Given the description of an element on the screen output the (x, y) to click on. 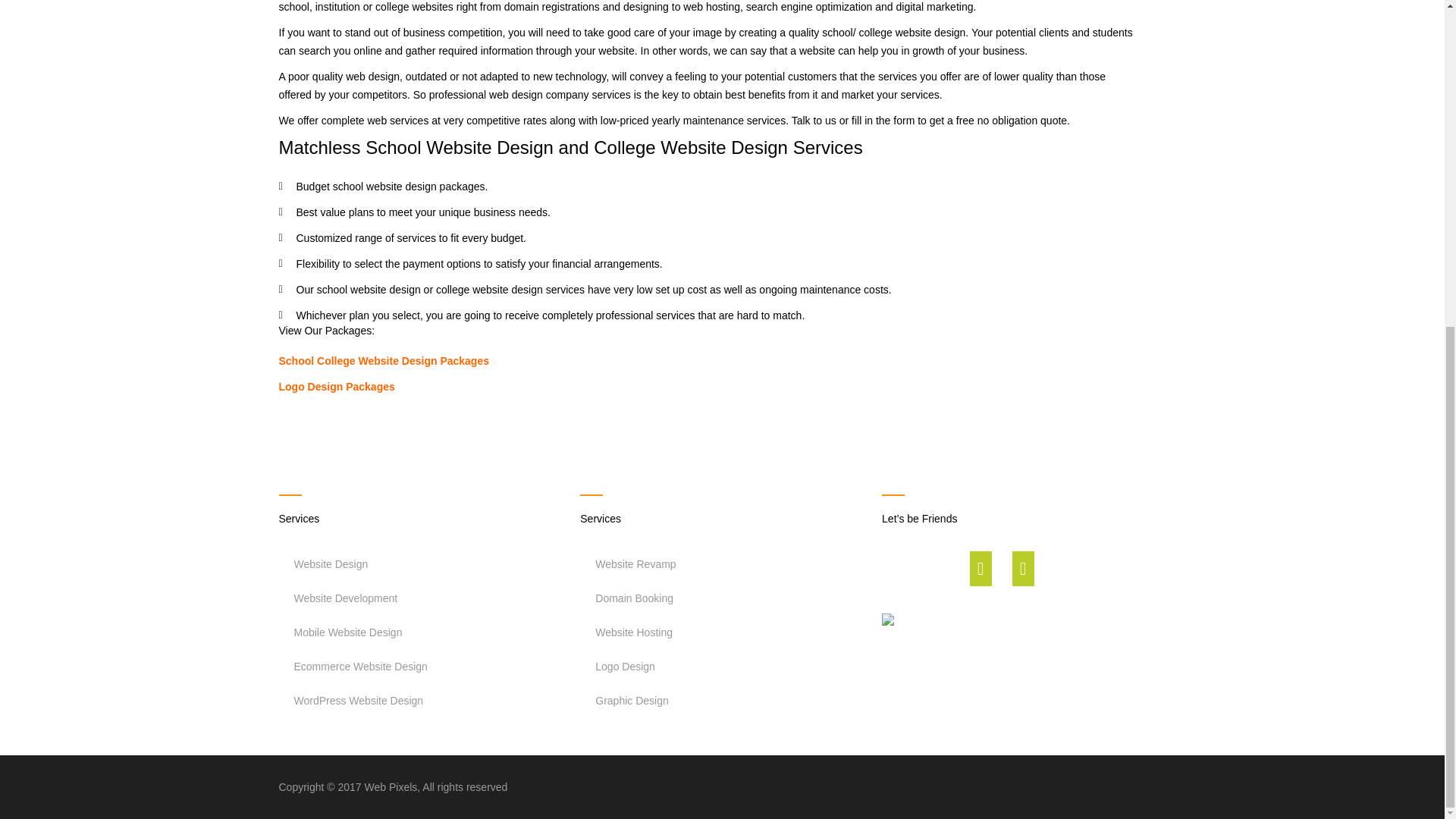
School College Website Design Packages (384, 360)
Logo Design Packages (336, 386)
Website Design (420, 567)
Website Development (420, 598)
